Given the description of an element on the screen output the (x, y) to click on. 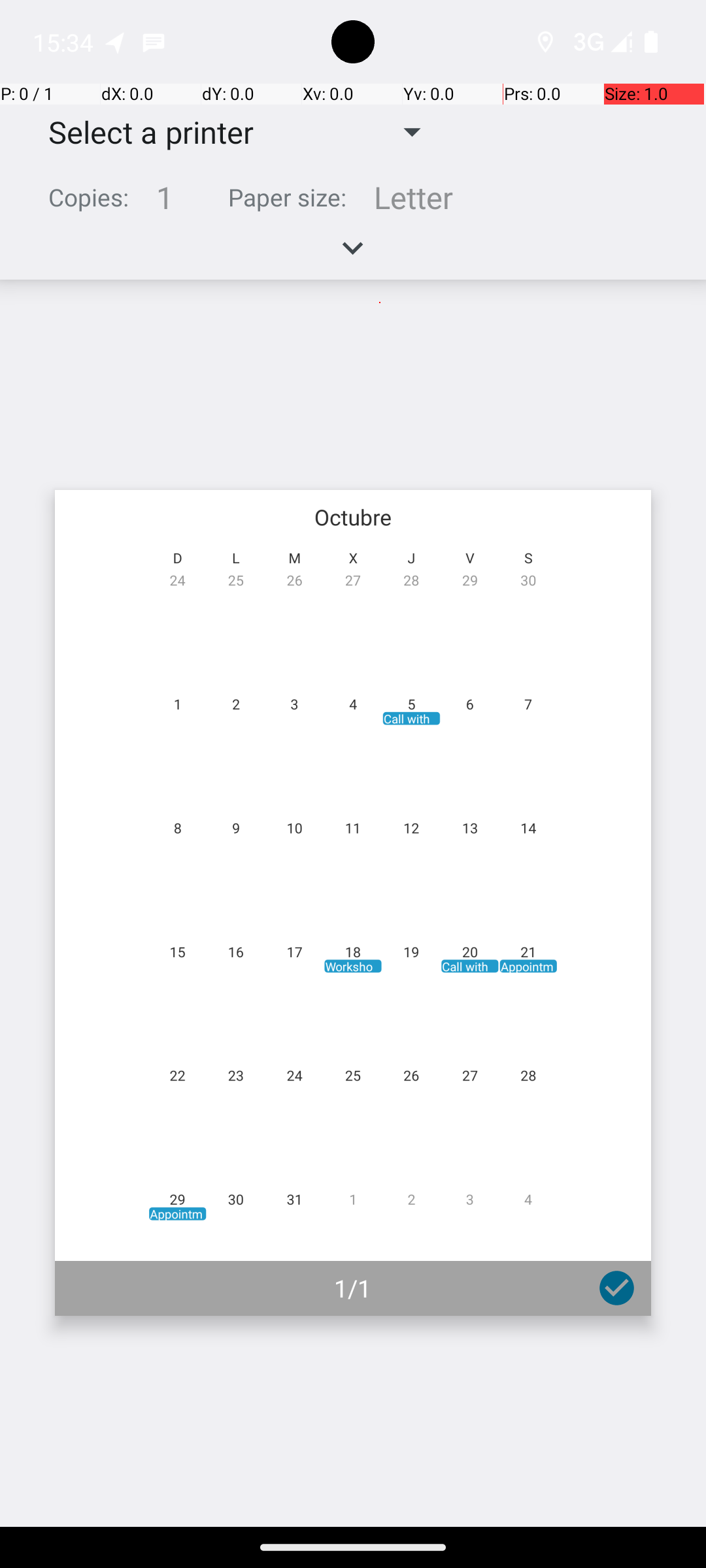
Expand handle Element type: android.widget.FrameLayout (353, 255)
Summary, copies 1, paper size Letter Element type: android.widget.LinearLayout (353, 202)
Select a printer Element type: android.widget.TextView (140, 131)
Copies: Element type: android.widget.TextView (88, 196)
Paper size: Element type: android.widget.TextView (287, 196)
Letter Element type: android.widget.TextView (413, 196)
Page 1 of 1 Element type: android.widget.CompoundButton (352, 902)
1/1 Element type: android.widget.TextView (352, 1287)
